Given the description of an element on the screen output the (x, y) to click on. 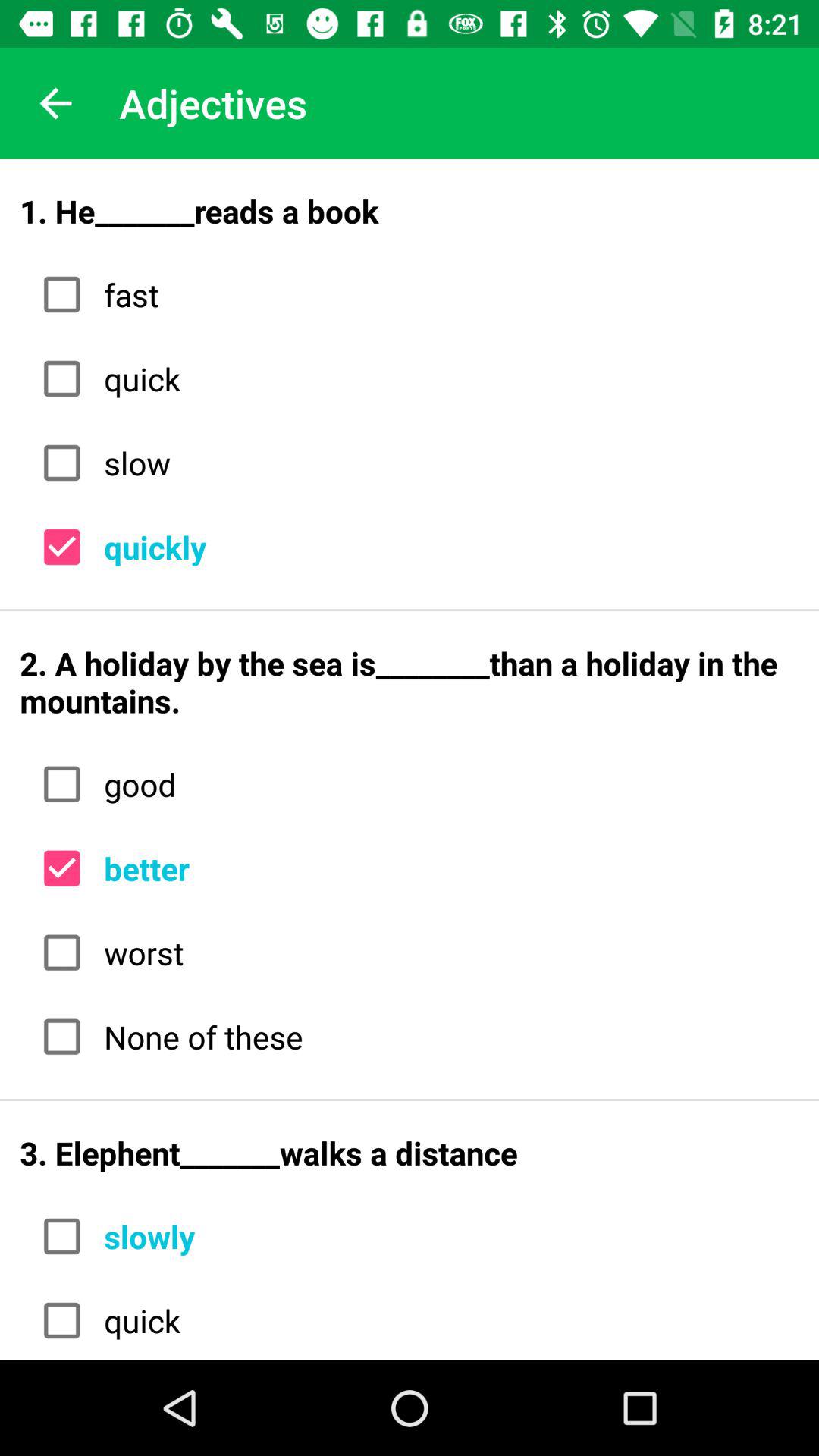
jump to 1 he_______reads a icon (409, 210)
